Given the description of an element on the screen output the (x, y) to click on. 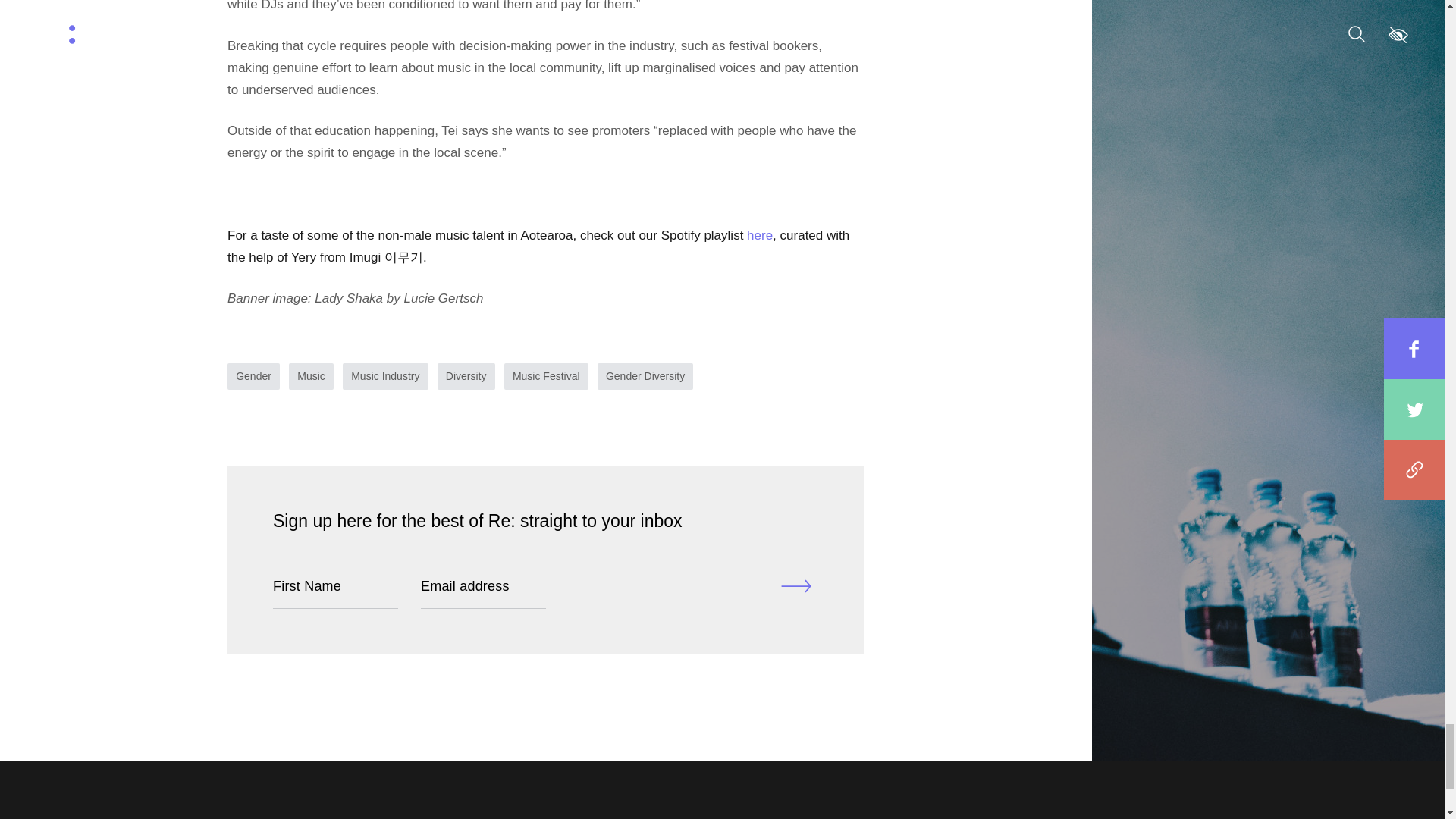
Music (310, 376)
here (759, 235)
Gender (253, 376)
